Given the description of an element on the screen output the (x, y) to click on. 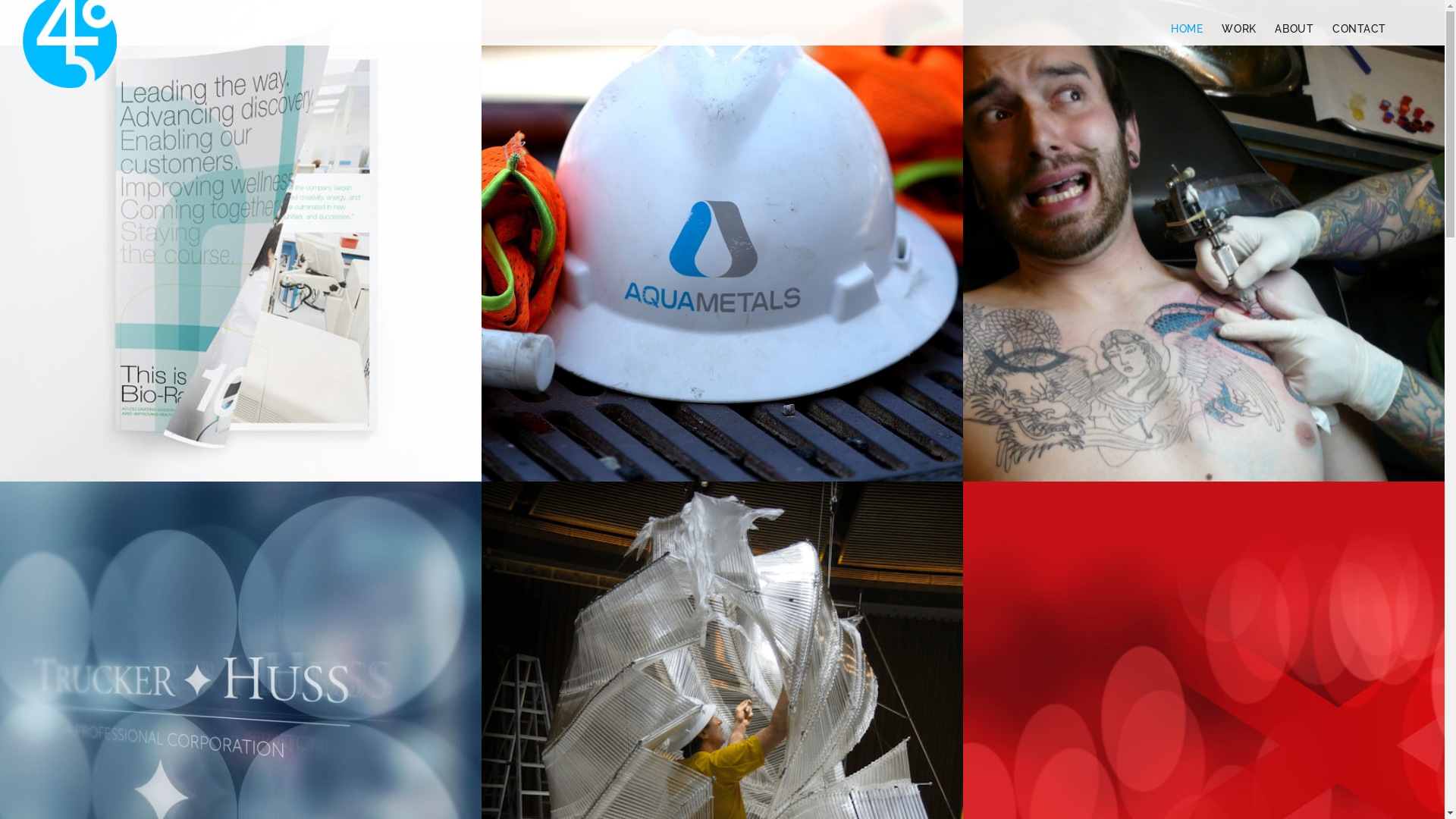
CONTACT Element type: text (1359, 28)
HOME Element type: text (1186, 28)
ABOUT Element type: text (1293, 28)
WORK Element type: text (1238, 28)
